Given the description of an element on the screen output the (x, y) to click on. 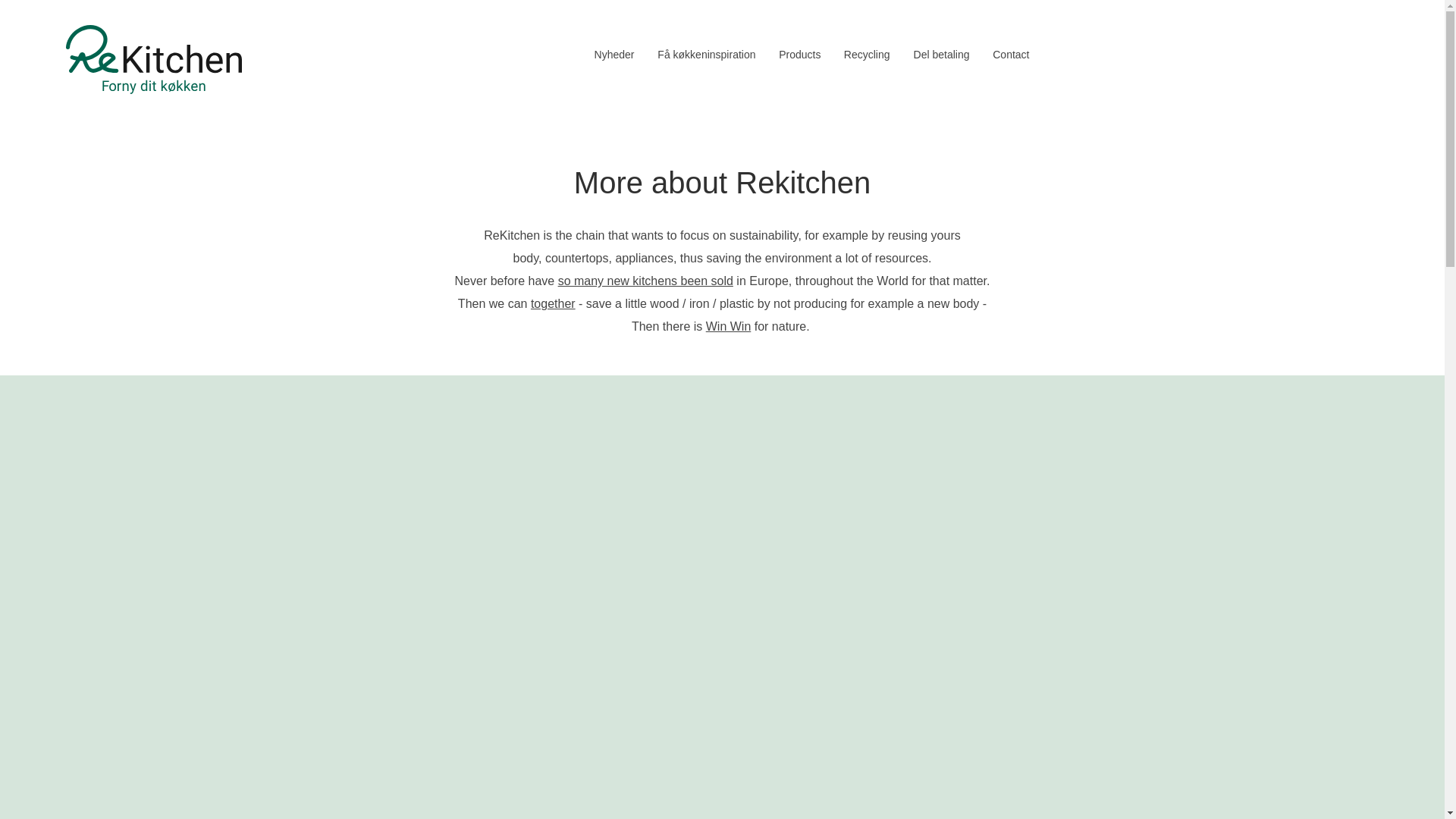
Recycling (866, 55)
Products (799, 55)
Nyheder (614, 55)
Contact (1011, 55)
Del betaling (940, 55)
